Given the description of an element on the screen output the (x, y) to click on. 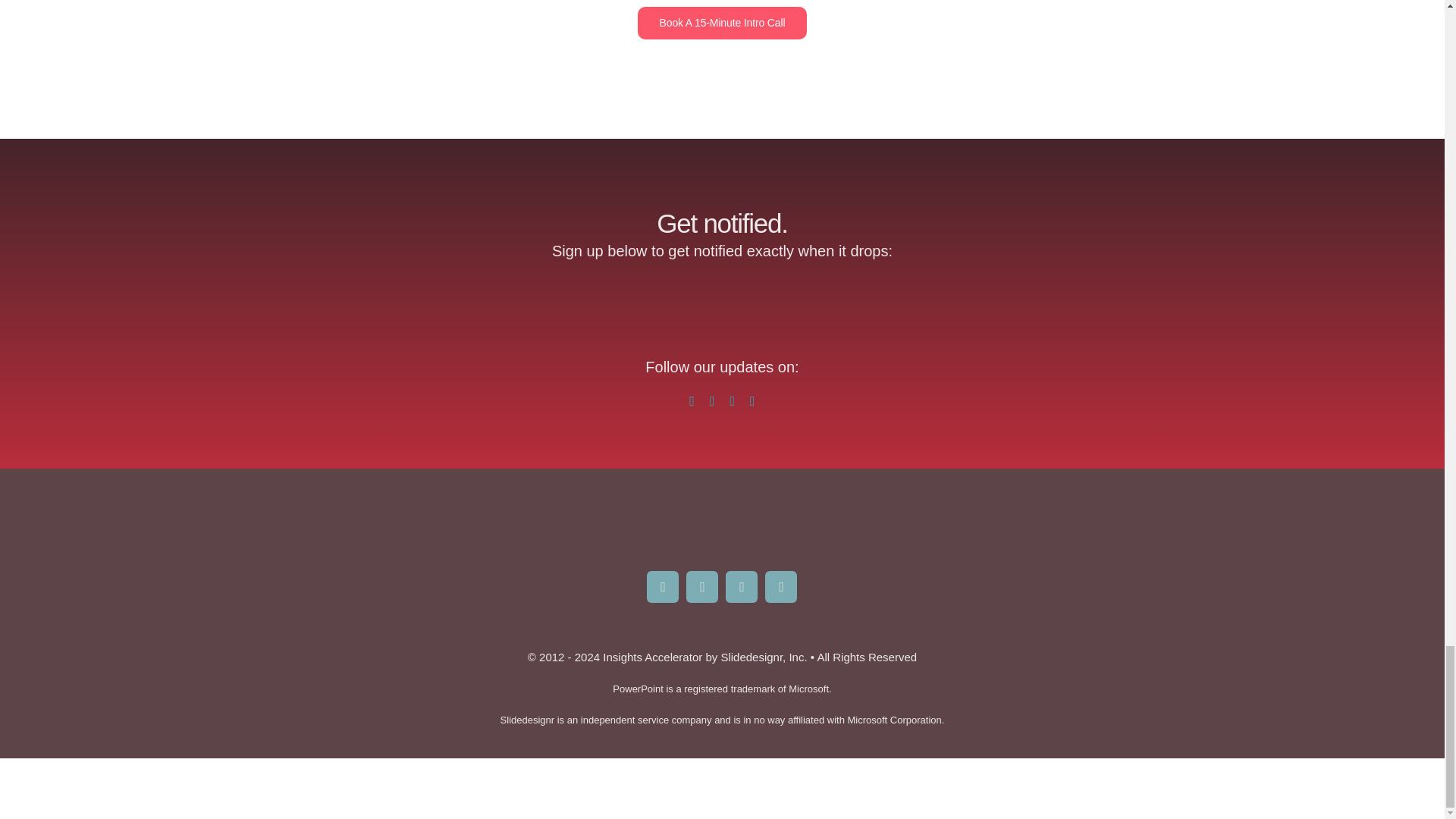
Book A 15-Minute Intro Call (722, 22)
